Given the description of an element on the screen output the (x, y) to click on. 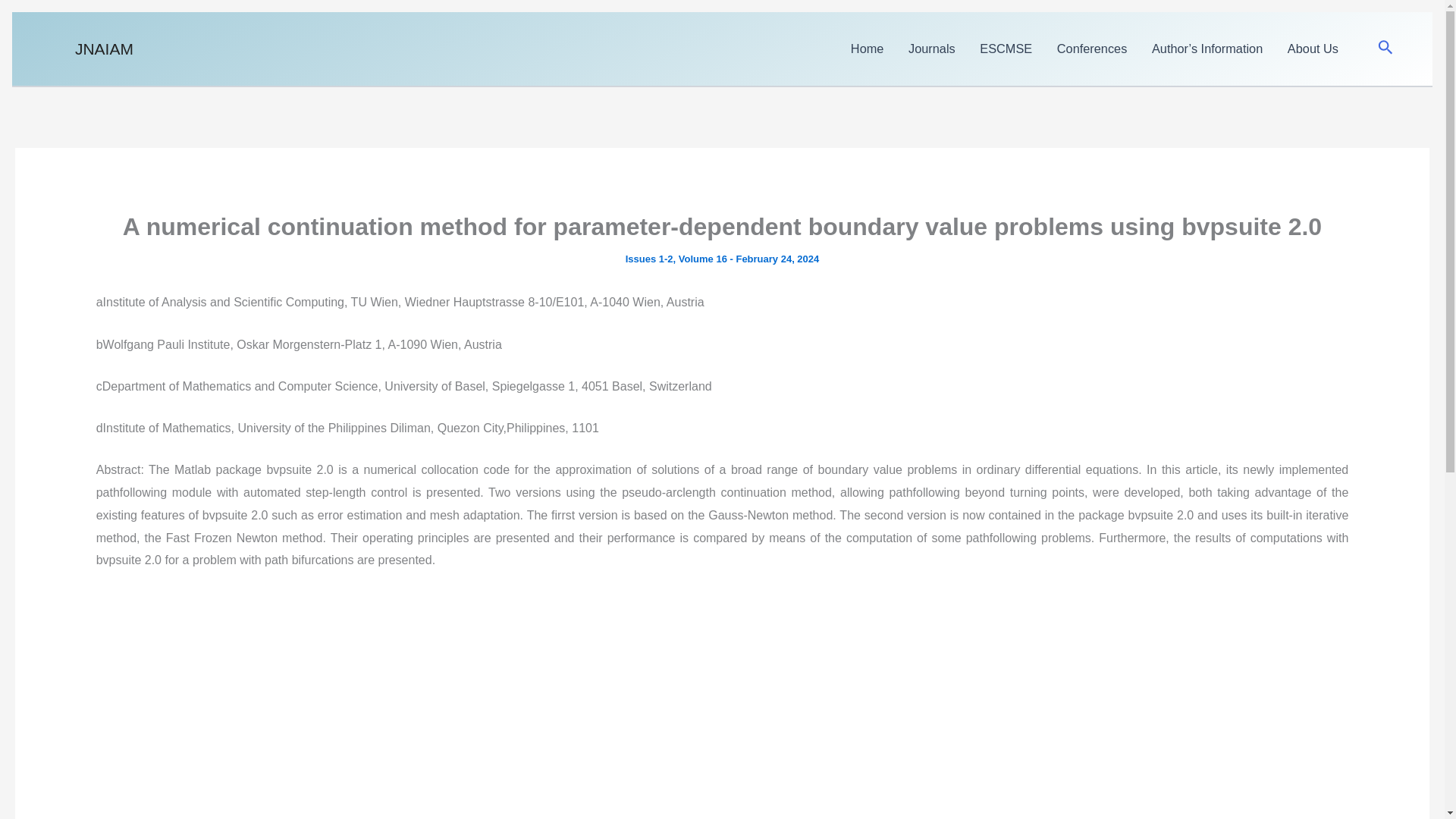
About Us (1313, 48)
Home (867, 48)
Issues 1-2 (649, 258)
JNAIAM (104, 48)
ESCMSE (1006, 48)
Conferences (1092, 48)
Journals (932, 48)
Volume 16 (702, 258)
